Given the description of an element on the screen output the (x, y) to click on. 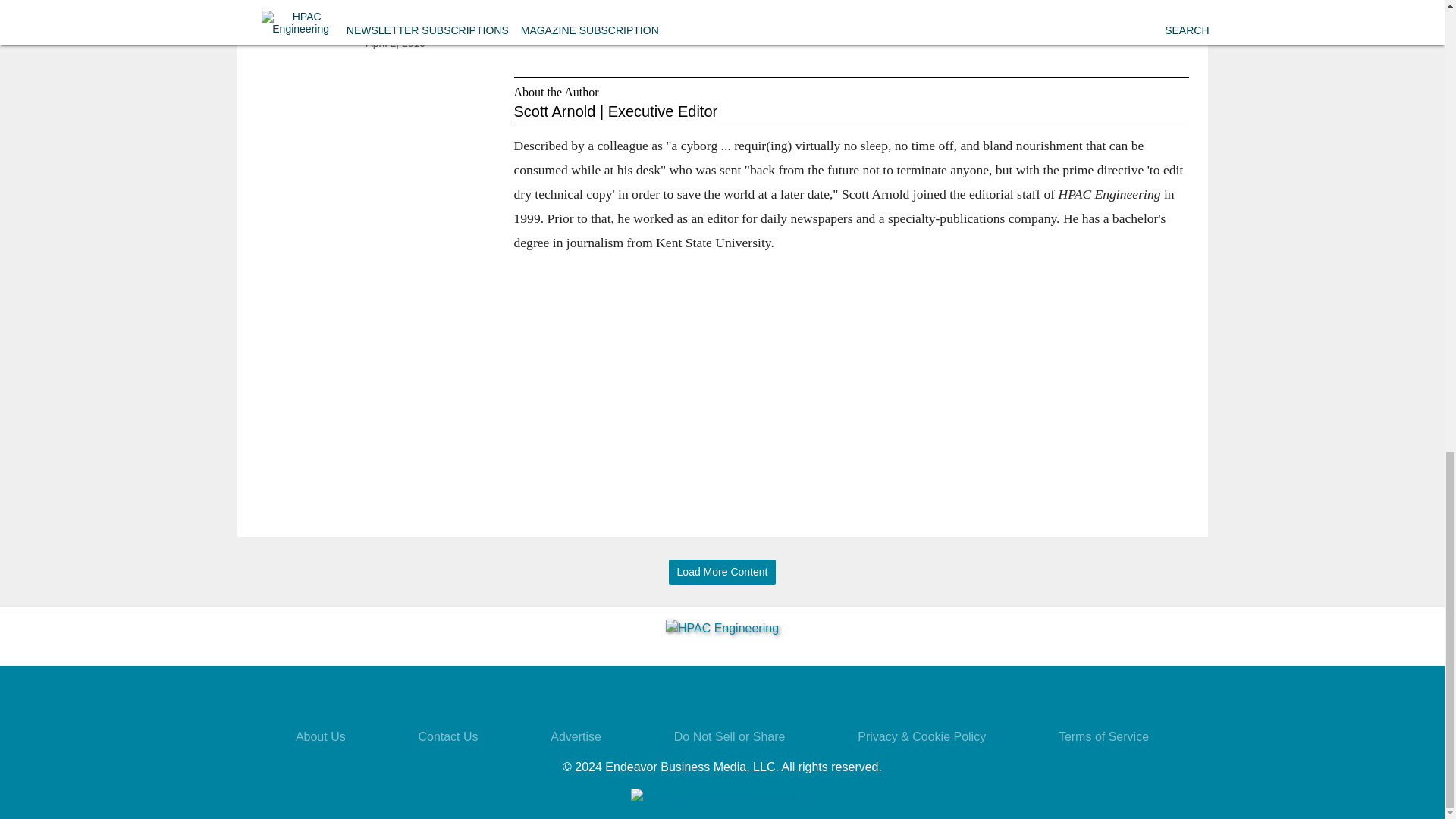
click here (847, 18)
About Us (320, 736)
Contact Us (447, 736)
Screen Shot 2019-04-02 at 3.38.14 PM.png (307, 27)
Load More Content (722, 571)
Read the April 2019 - Digital Edition (424, 12)
